Given the description of an element on the screen output the (x, y) to click on. 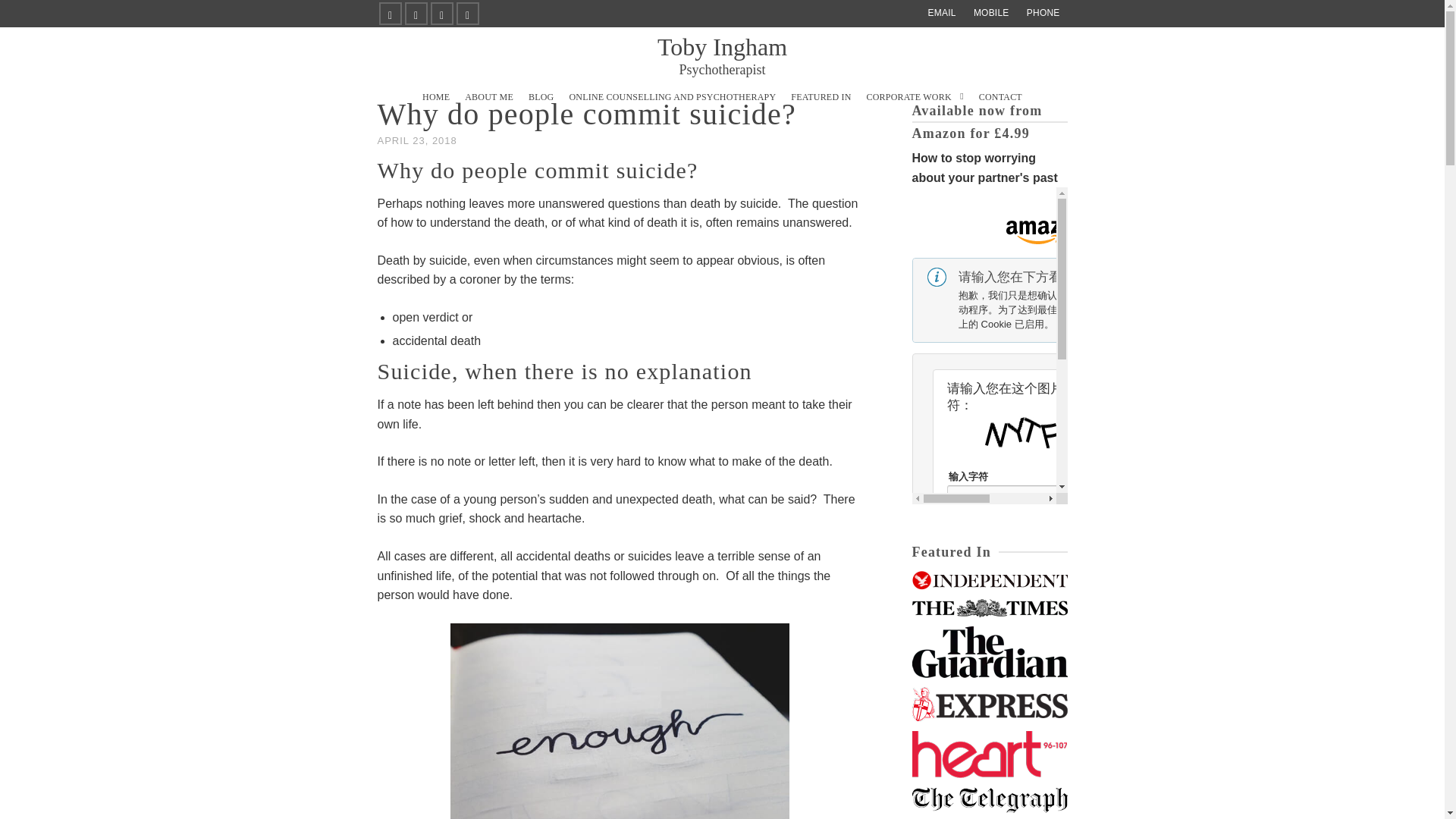
CONTACT (1000, 96)
EMAIL (941, 12)
HOME (435, 96)
ABOUT ME (489, 96)
BLOG (540, 96)
PHONE (722, 54)
CORPORATE WORK (1043, 12)
ONLINE COUNSELLING AND PSYCHOTHERAPY (915, 96)
FEATURED IN (671, 96)
